Given the description of an element on the screen output the (x, y) to click on. 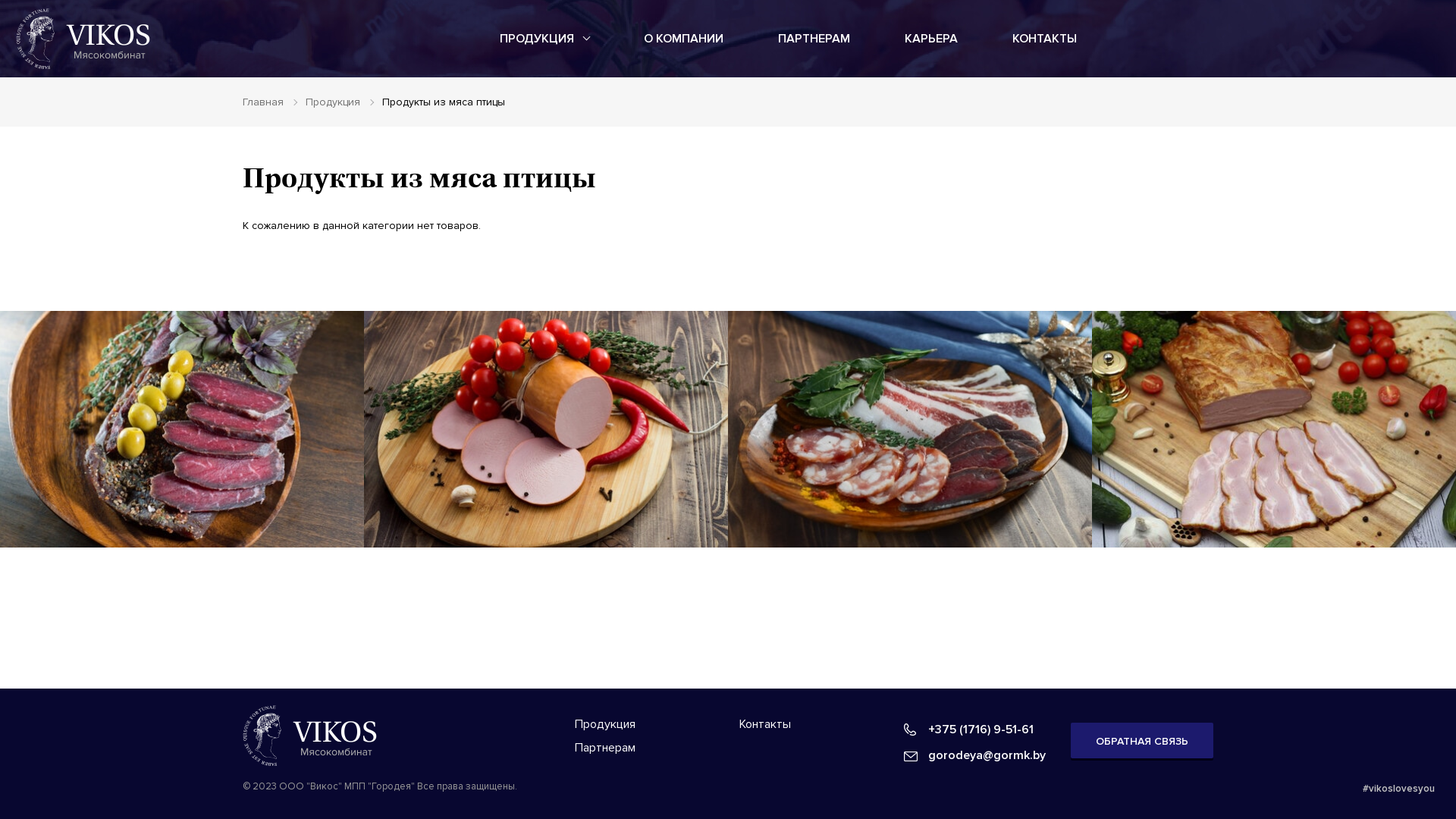
+375 (1716) 9-51-61 Element type: text (968, 728)
#vikoslovesyou Element type: text (1398, 788)
gorodeya@gormk.by Element type: text (974, 755)
